Given the description of an element on the screen output the (x, y) to click on. 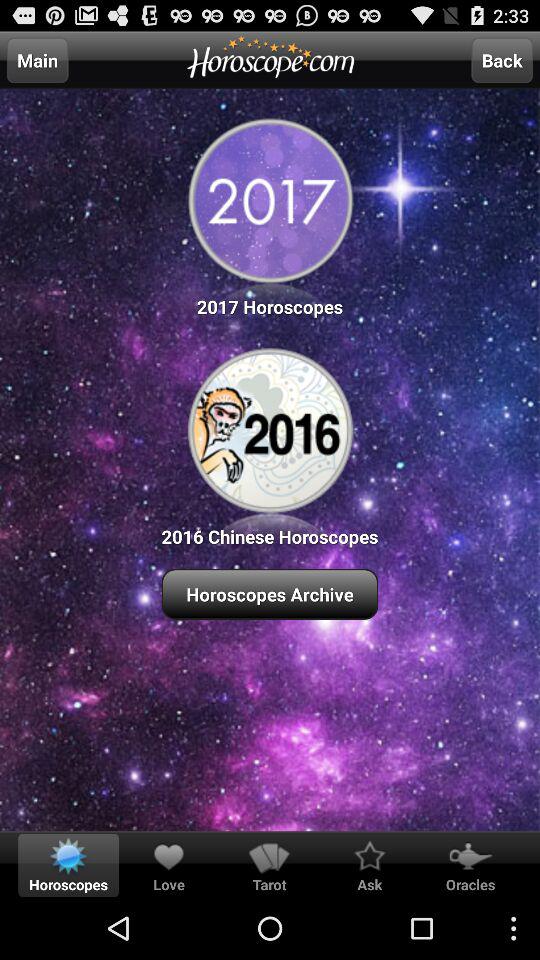
press the icon at the top right corner (502, 60)
